Given the description of an element on the screen output the (x, y) to click on. 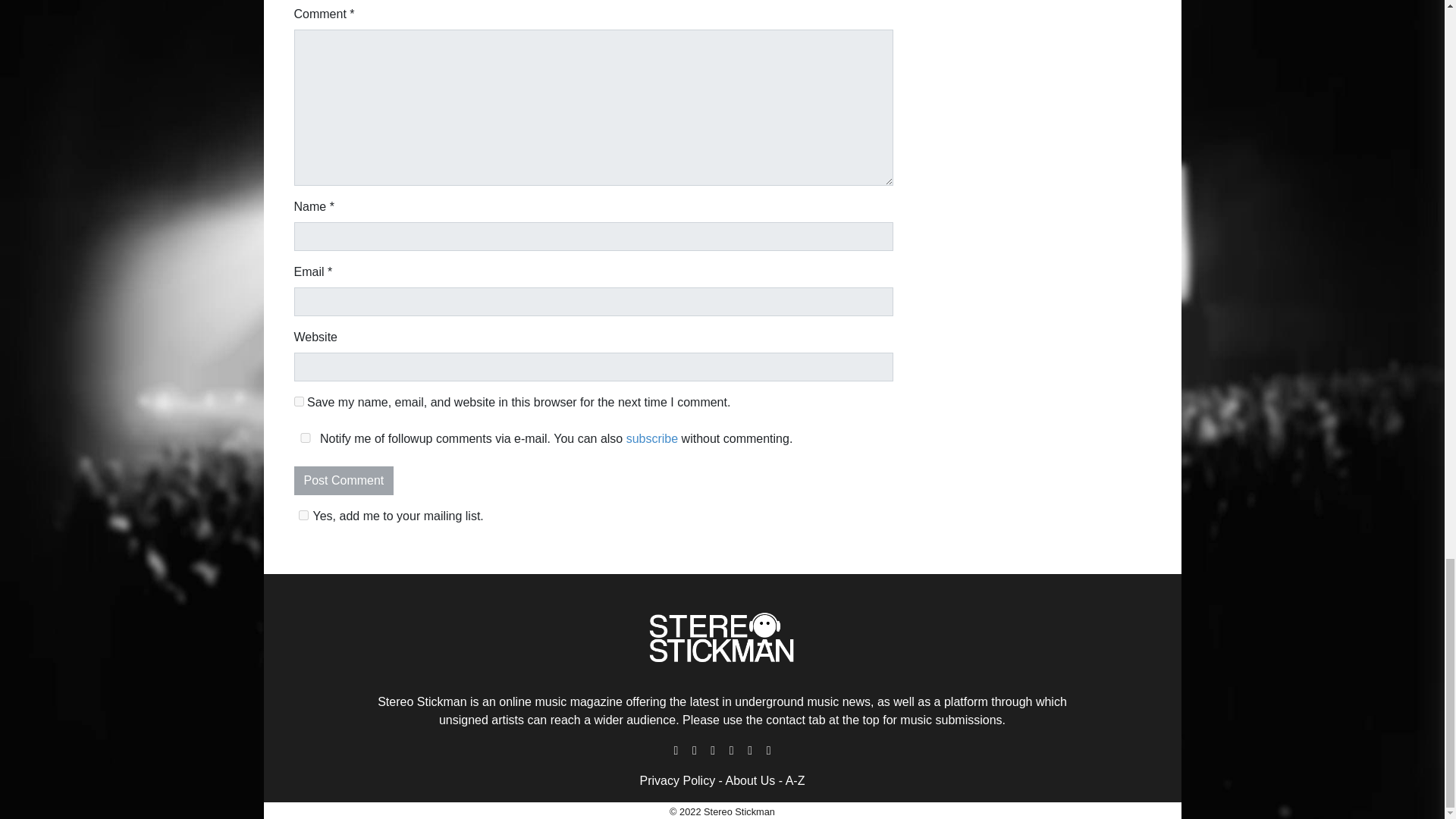
Post Comment (344, 480)
Post Comment (344, 480)
yes (299, 401)
1 (303, 515)
yes (305, 438)
subscribe (652, 438)
